Given the description of an element on the screen output the (x, y) to click on. 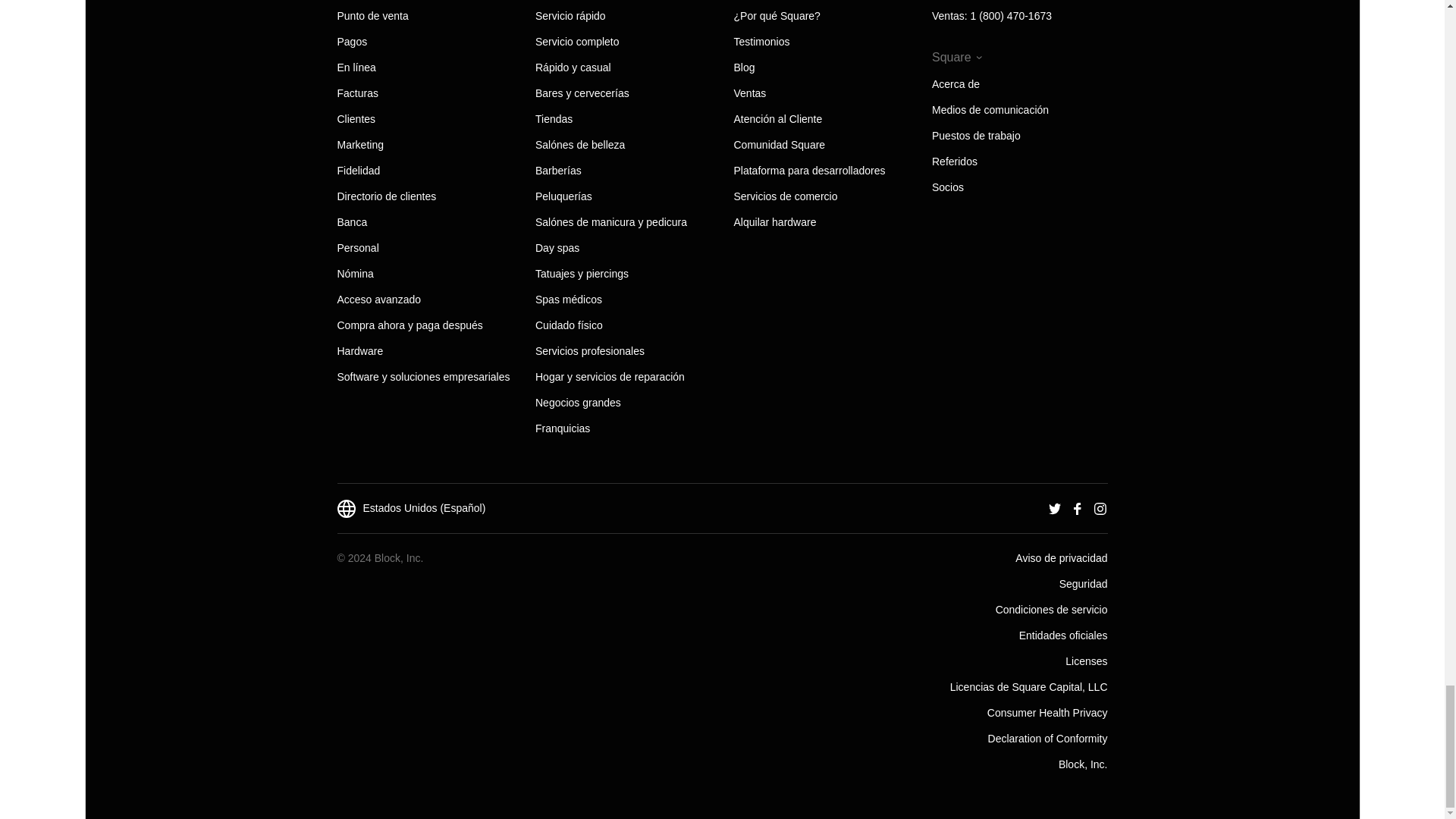
Twitter (1053, 508)
Facebook (1076, 508)
Instagram (1099, 508)
